Given the description of an element on the screen output the (x, y) to click on. 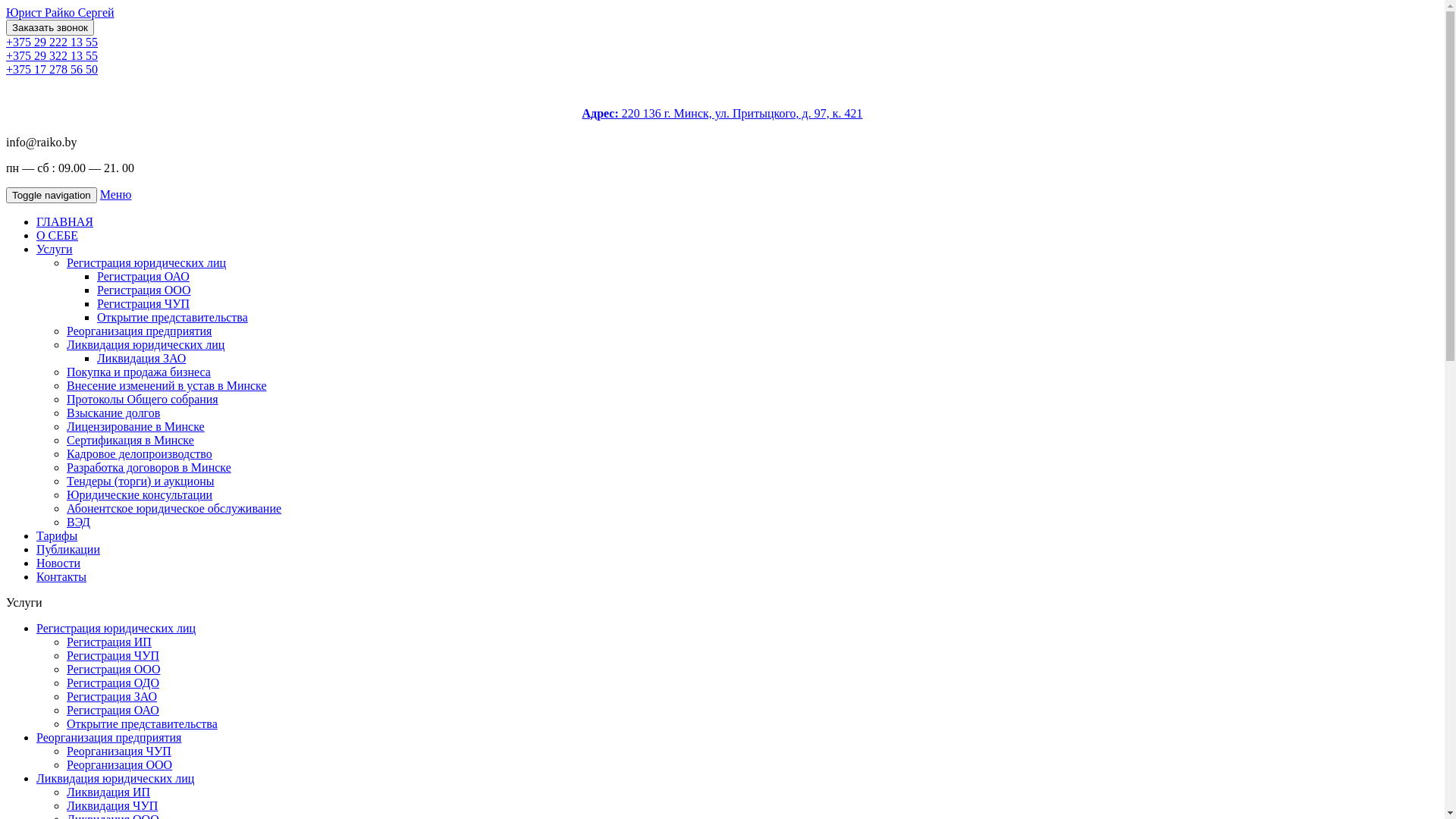
+375 29 322 13 55 Element type: text (51, 55)
+375 29 222 13 55 Element type: text (51, 41)
+375 17 278 56 50 Element type: text (51, 68)
Toggle navigation Element type: text (51, 195)
